Given the description of an element on the screen output the (x, y) to click on. 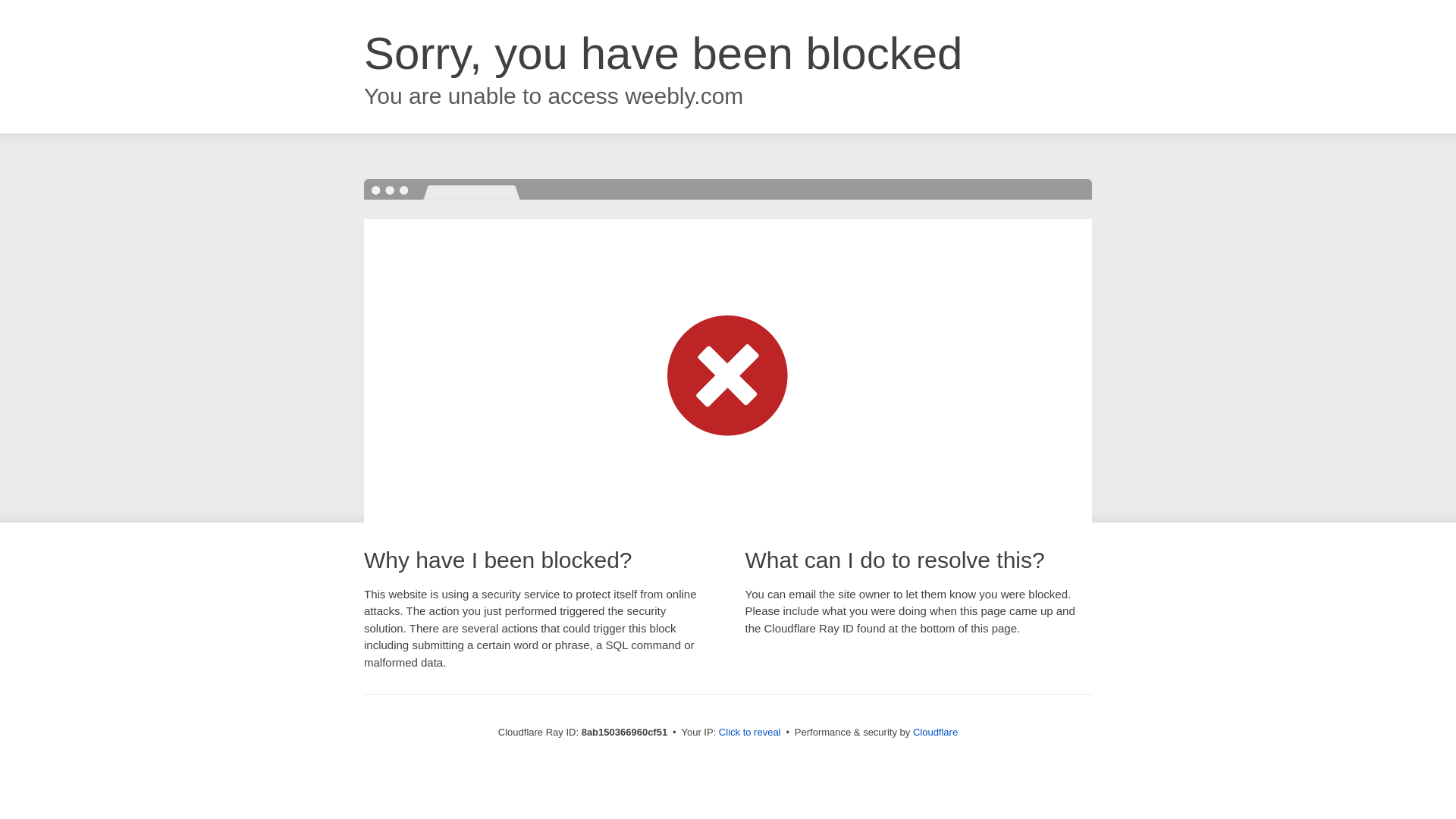
Cloudflare (935, 731)
Click to reveal (749, 732)
